Given the description of an element on the screen output the (x, y) to click on. 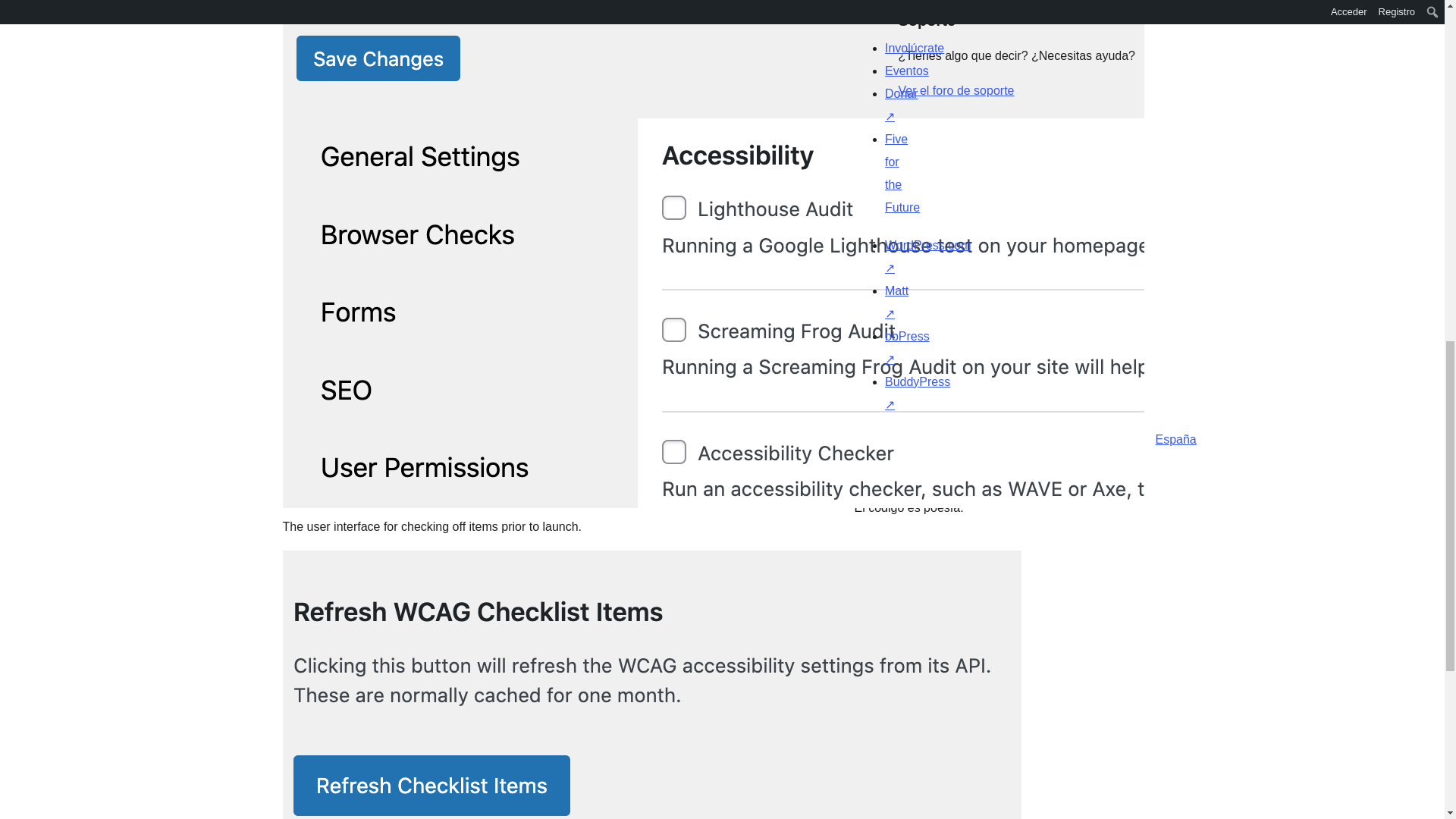
WordPress.org (864, 435)
WordPress.org (1014, 435)
Acceder a WordPress.org (984, 2)
